Given the description of an element on the screen output the (x, y) to click on. 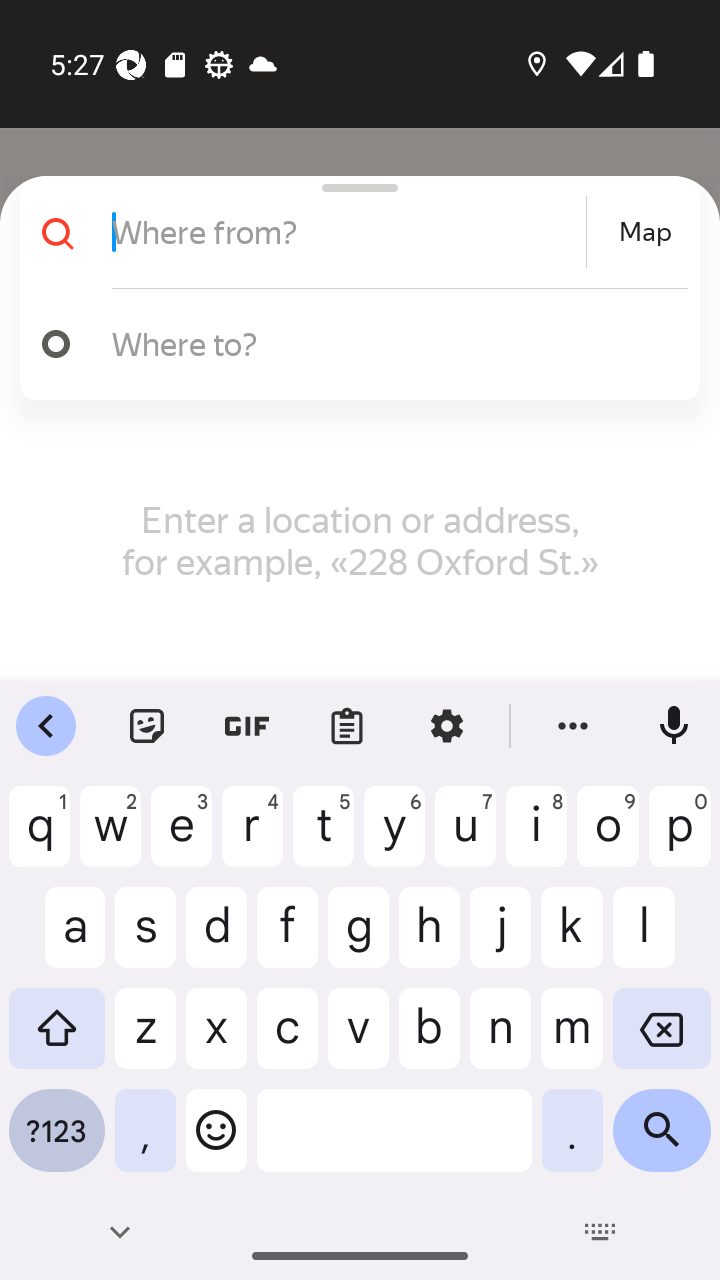
Where from? Map Map (352, 232)
Map (645, 232)
Where from? (346, 232)
Where to? (352, 343)
Where to? (390, 343)
